Given the description of an element on the screen output the (x, y) to click on. 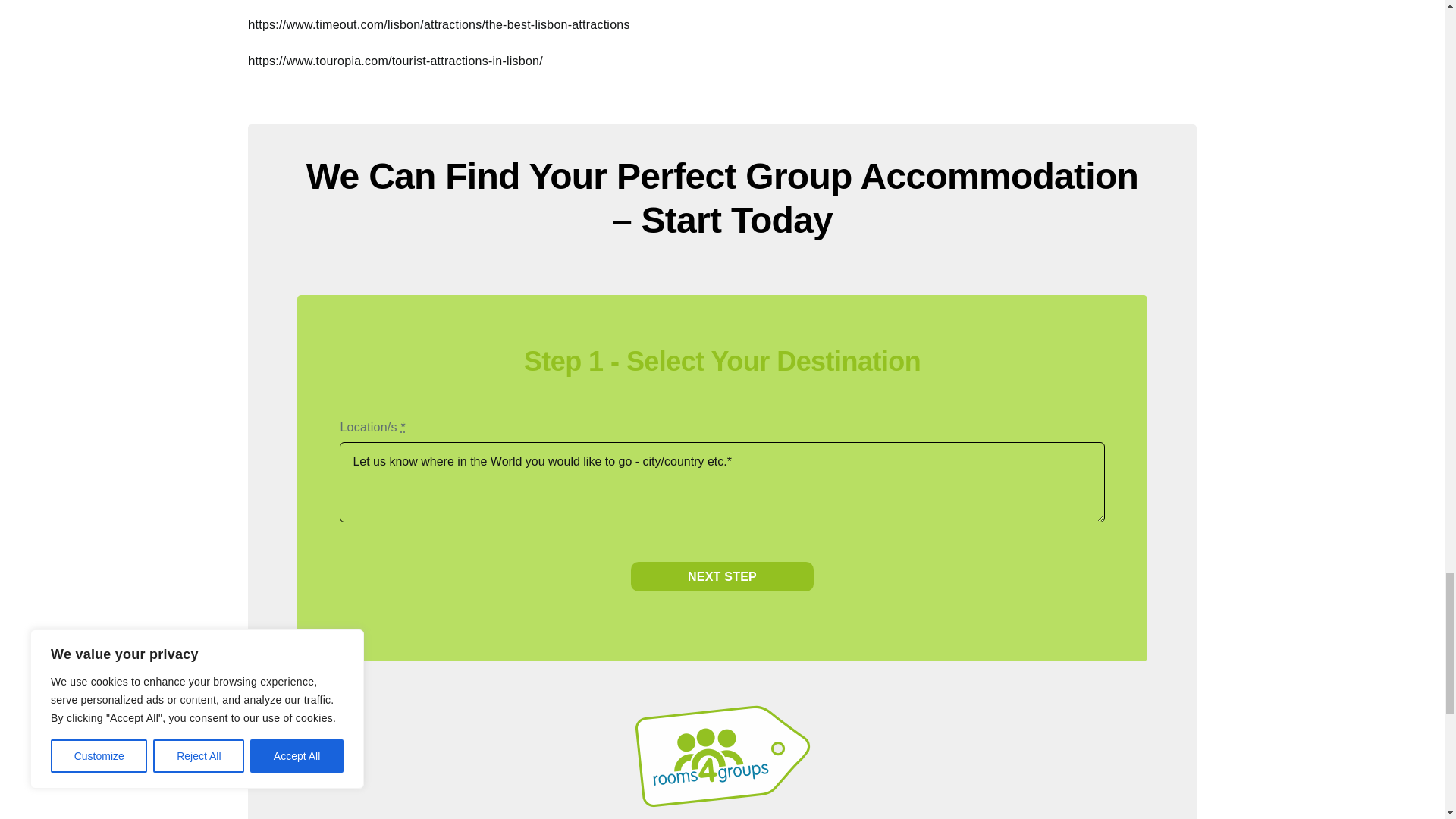
NEXT STEP (721, 576)
required (402, 427)
